Given the description of an element on the screen output the (x, y) to click on. 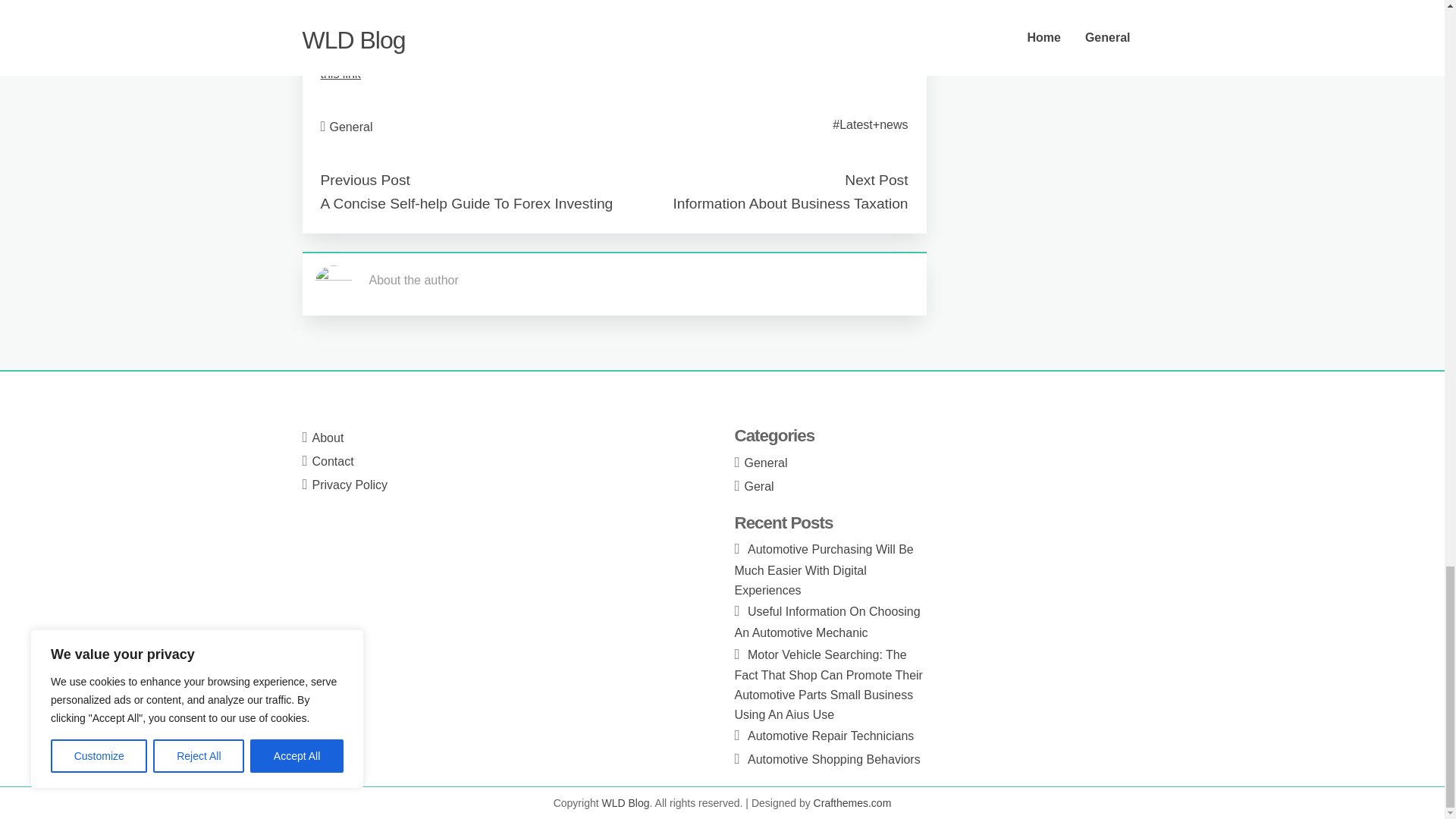
About (328, 437)
Contact (333, 461)
A Concise Self-help Guide To Forex Investing (466, 202)
Information About Business Taxation (789, 202)
Please click the following page (402, 35)
General (765, 462)
Geral (759, 486)
Next Post (875, 179)
Privacy Policy (350, 484)
this link (339, 73)
